Given the description of an element on the screen output the (x, y) to click on. 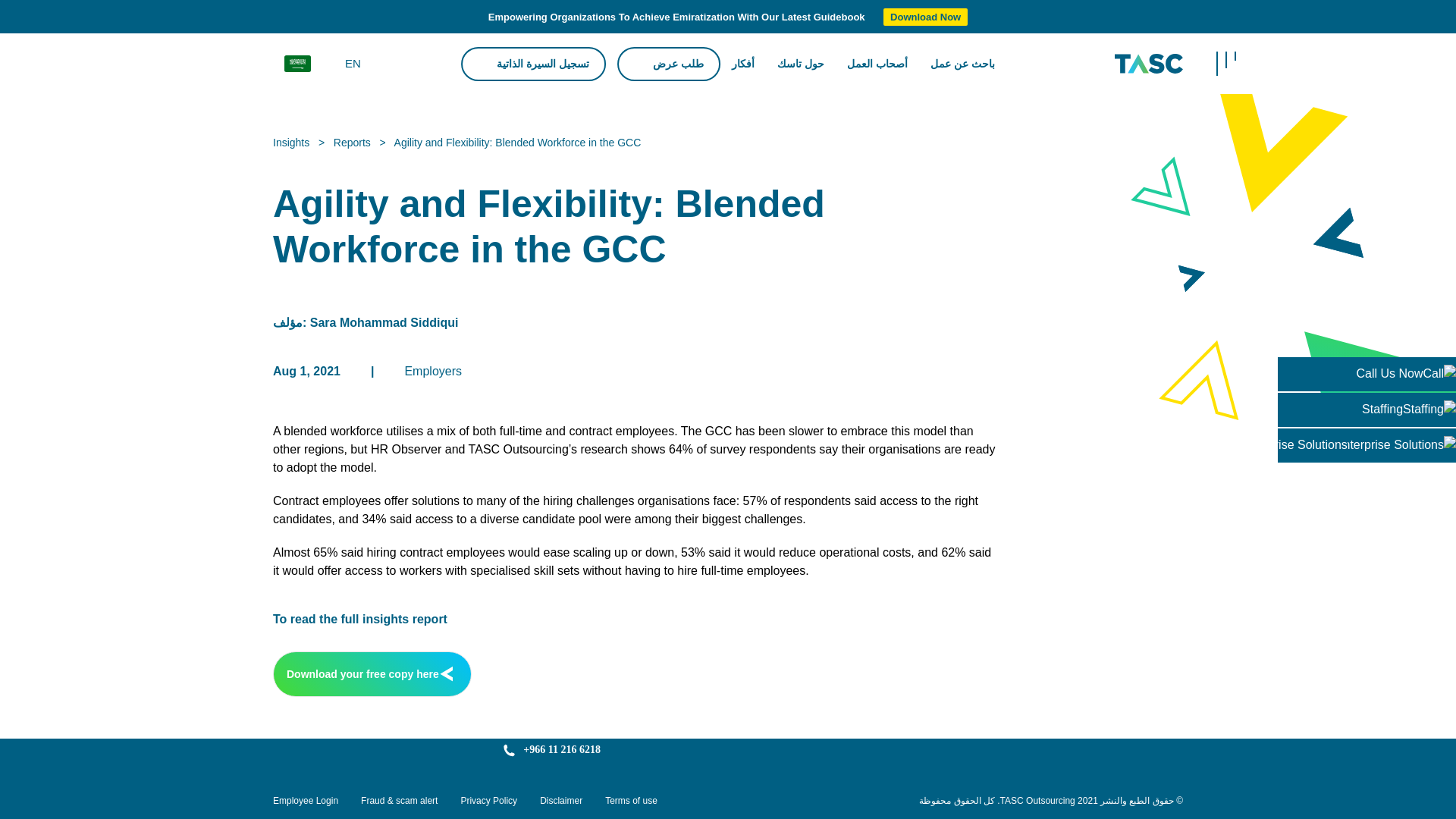
Download Now (925, 16)
